Given the description of an element on the screen output the (x, y) to click on. 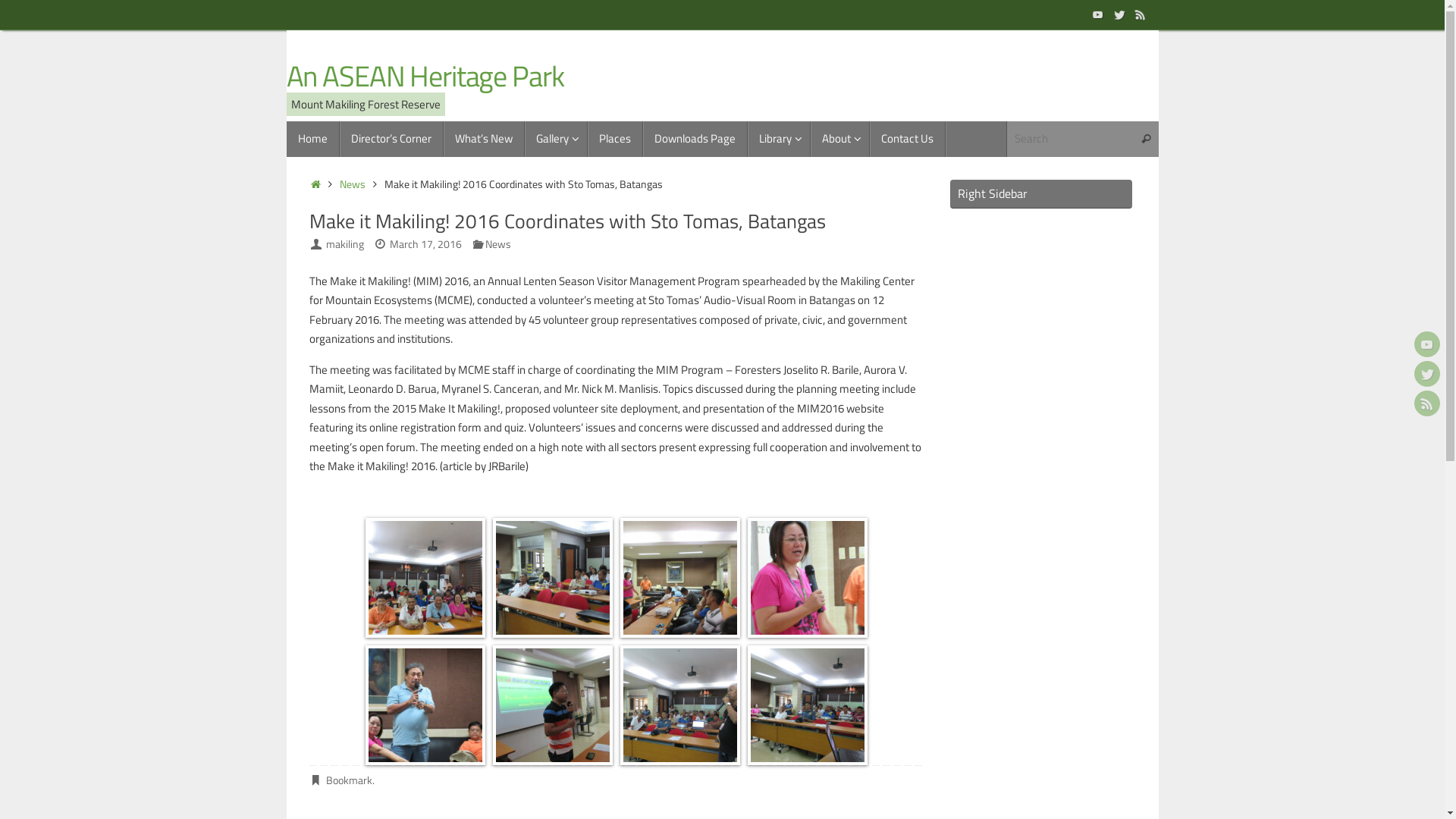
YouTube Element type: hover (1097, 14)
YouTube Element type: hover (1427, 344)
March 17, 2016 Element type: text (425, 243)
Places Element type: text (614, 138)
Downloads Page Element type: text (695, 138)
Gallery Element type: text (555, 138)
An ASEAN Heritage Park Element type: text (425, 76)
Bookmark Element type: text (349, 779)
RSS Element type: hover (1427, 403)
Home Element type: text (312, 138)
News Element type: text (498, 243)
Twitter Element type: hover (1118, 14)
RSS Element type: hover (1140, 14)
Date Element type: hover (380, 243)
Twitter Element type: hover (1427, 373)
Categories Element type: hover (477, 243)
 Bookmark the permalink Element type: hover (316, 779)
Library Element type: text (778, 138)
About Element type: text (839, 138)
News Element type: text (352, 183)
Contact Us Element type: text (906, 138)
makiling Element type: text (345, 243)
Author  Element type: hover (316, 243)
